Given the description of an element on the screen output the (x, y) to click on. 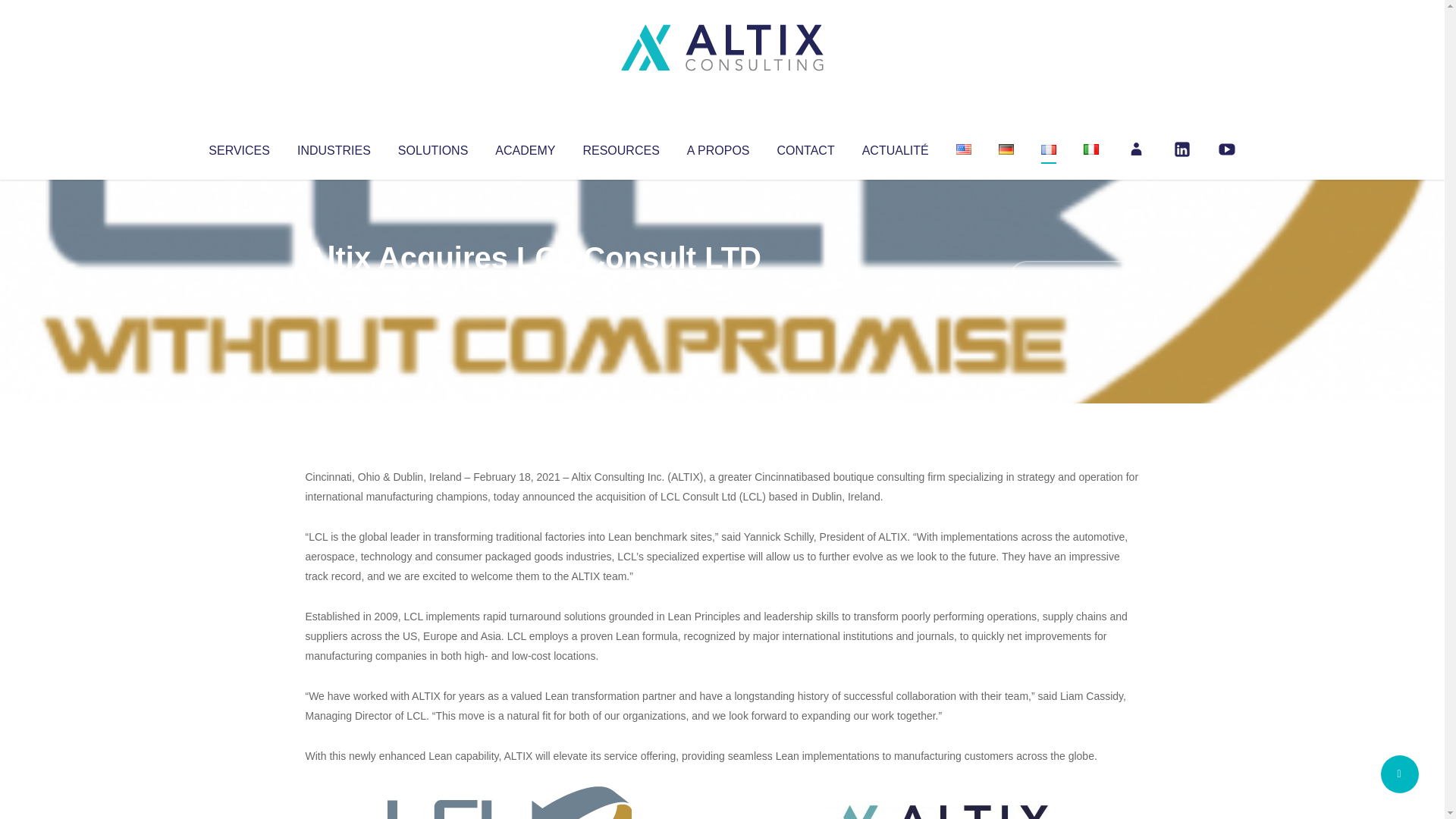
INDUSTRIES (334, 146)
SOLUTIONS (432, 146)
SERVICES (238, 146)
No Comments (1073, 278)
ACADEMY (524, 146)
Altix (333, 287)
Uncategorized (530, 287)
Articles par Altix (333, 287)
A PROPOS (718, 146)
RESOURCES (620, 146)
